Given the description of an element on the screen output the (x, y) to click on. 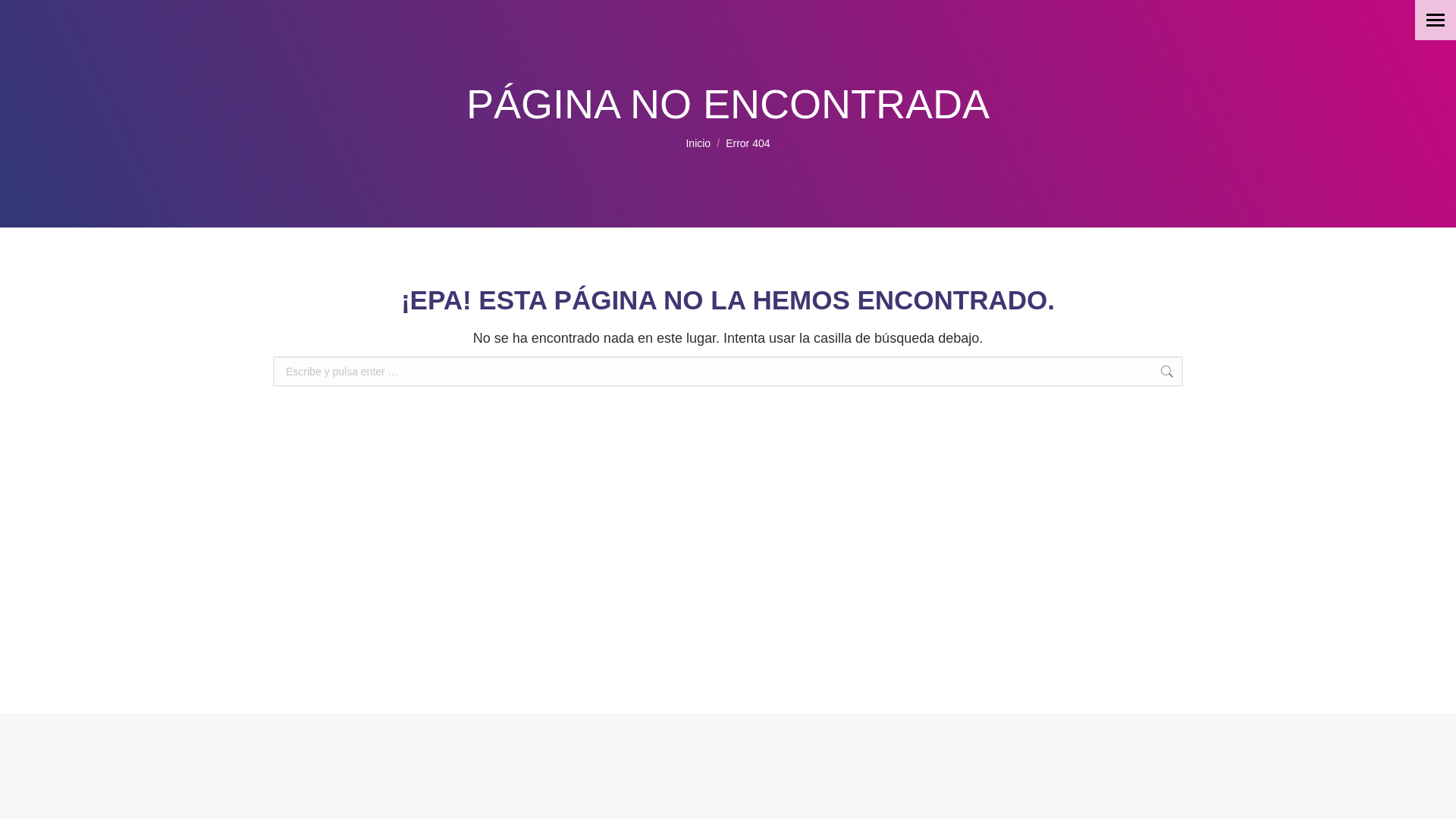
Ir! (1210, 372)
Inicio (697, 142)
Inicio (697, 142)
Ir! (1210, 372)
Ir! (1210, 372)
